Given the description of an element on the screen output the (x, y) to click on. 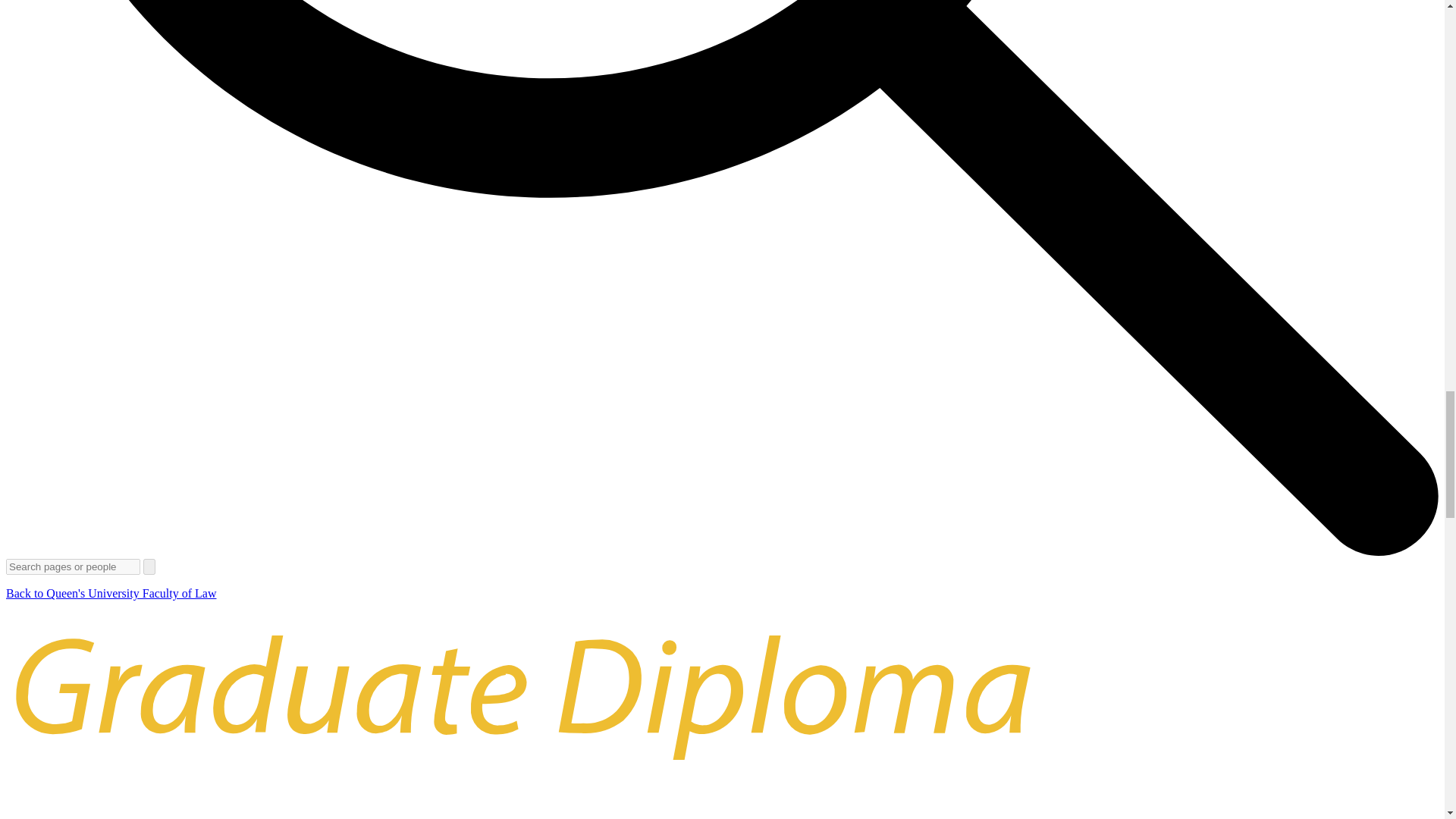
Back to Queen's University Faculty of Law (110, 593)
